Given the description of an element on the screen output the (x, y) to click on. 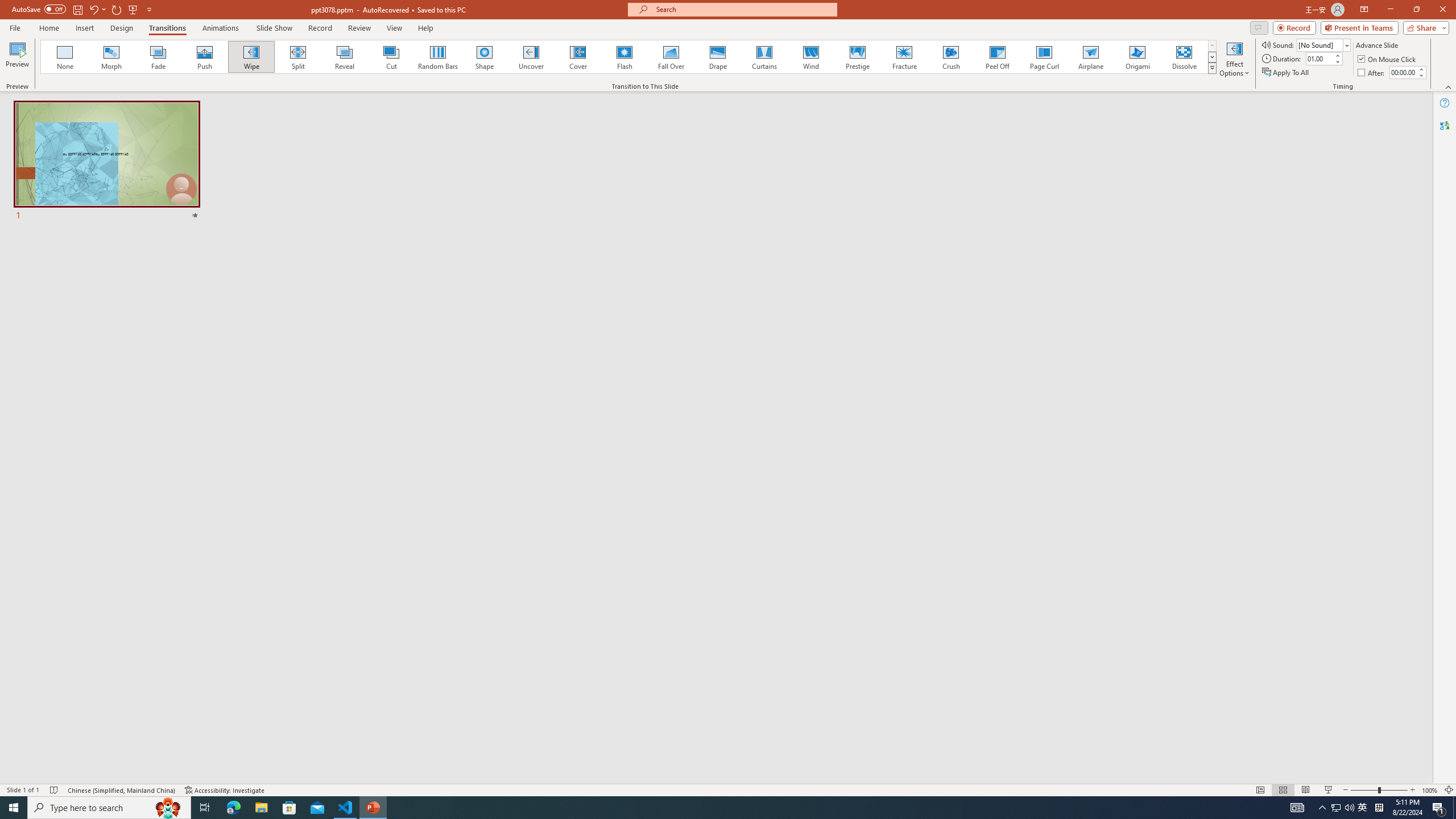
Row Down (1212, 56)
Morph (111, 56)
Fracture (903, 56)
Crush (950, 56)
Class: NetUIImage (1211, 68)
None (65, 56)
Zoom 100% (1430, 790)
Shape (484, 56)
